Given the description of an element on the screen output the (x, y) to click on. 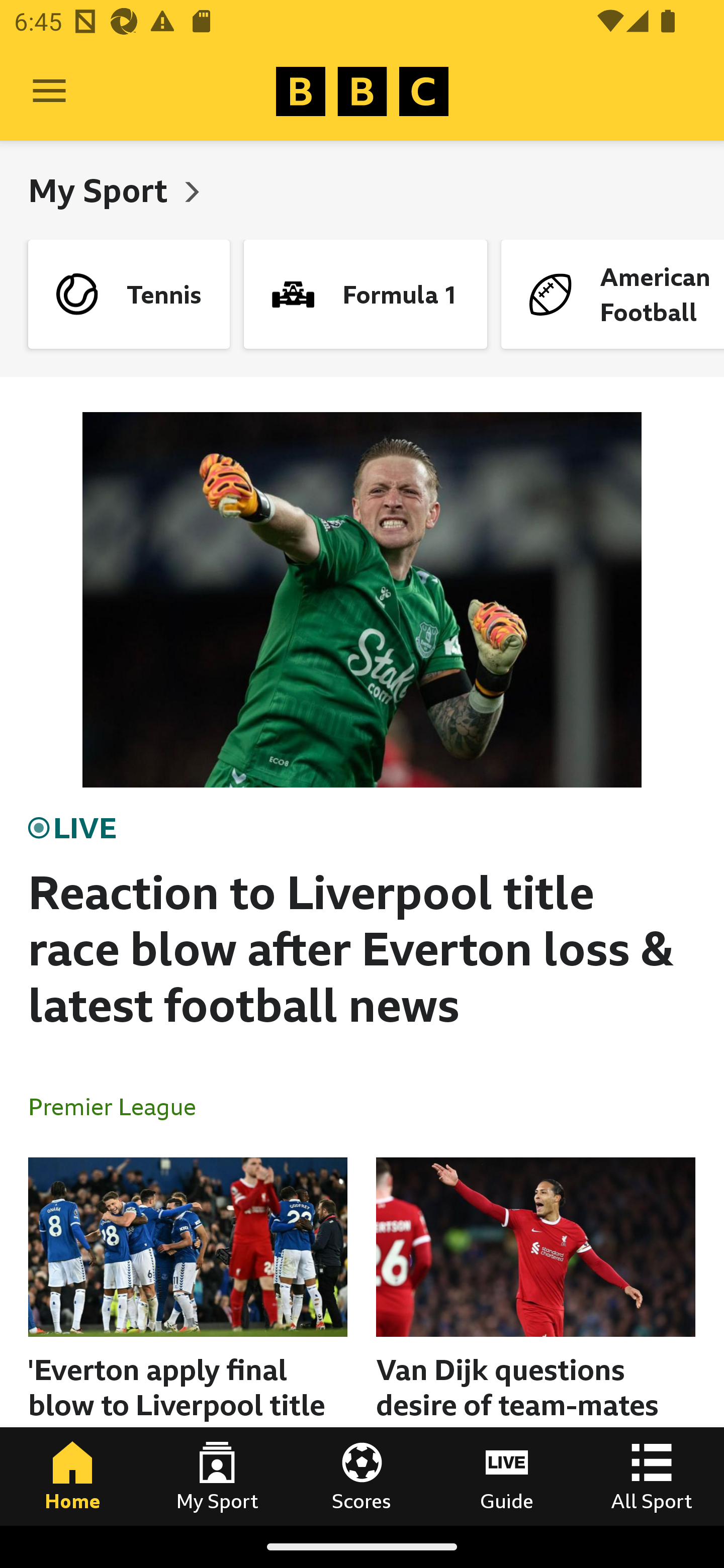
Open Menu (49, 91)
My Sport (101, 190)
Premier League In the section Premier League (119, 1106)
My Sport (216, 1475)
Scores (361, 1475)
Guide (506, 1475)
All Sport (651, 1475)
